Given the description of an element on the screen output the (x, y) to click on. 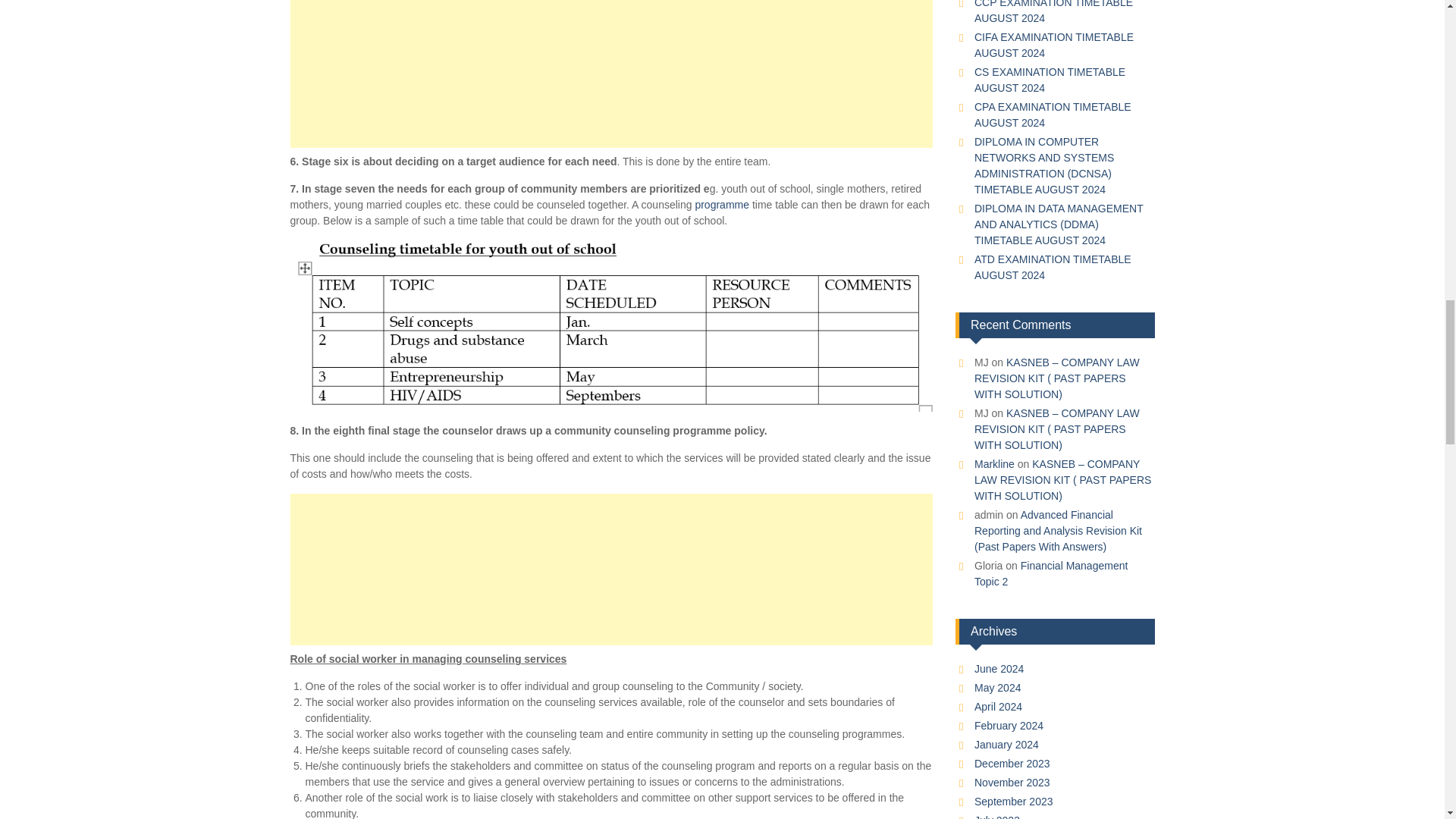
programme (721, 204)
